Given the description of an element on the screen output the (x, y) to click on. 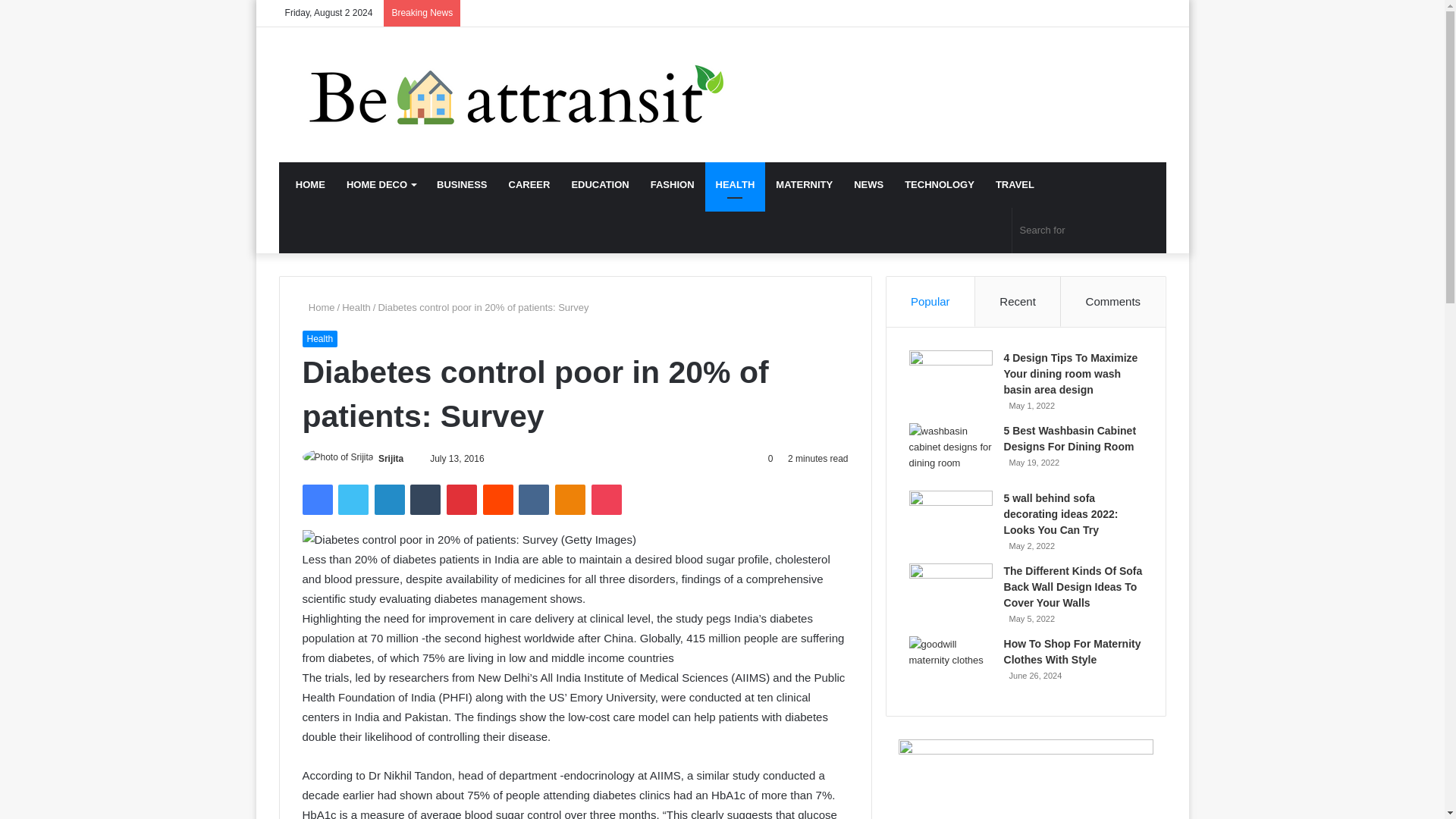
Twitter (352, 499)
FASHION (672, 185)
VKontakte (533, 499)
HOME DECO (381, 185)
Reddit (498, 499)
TECHNOLOGY (939, 185)
Srijita (390, 458)
BUSINESS (461, 185)
Facebook (316, 499)
Health (356, 307)
Odnoklassniki (569, 499)
Pocket (606, 499)
Home (317, 307)
CAREER (528, 185)
MATERNITY (804, 185)
